Given the description of an element on the screen output the (x, y) to click on. 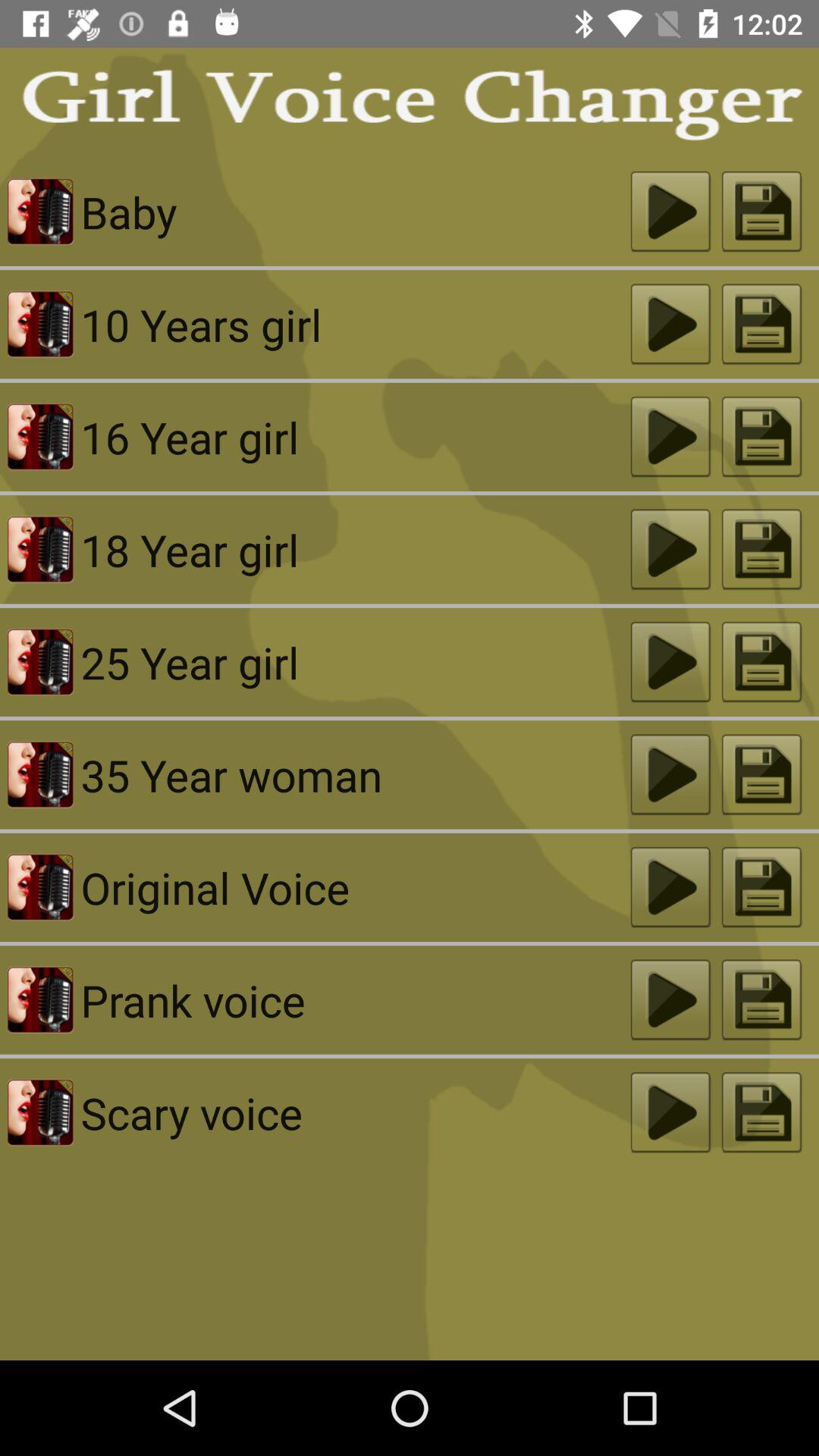
press the baby item (355, 211)
